Given the description of an element on the screen output the (x, y) to click on. 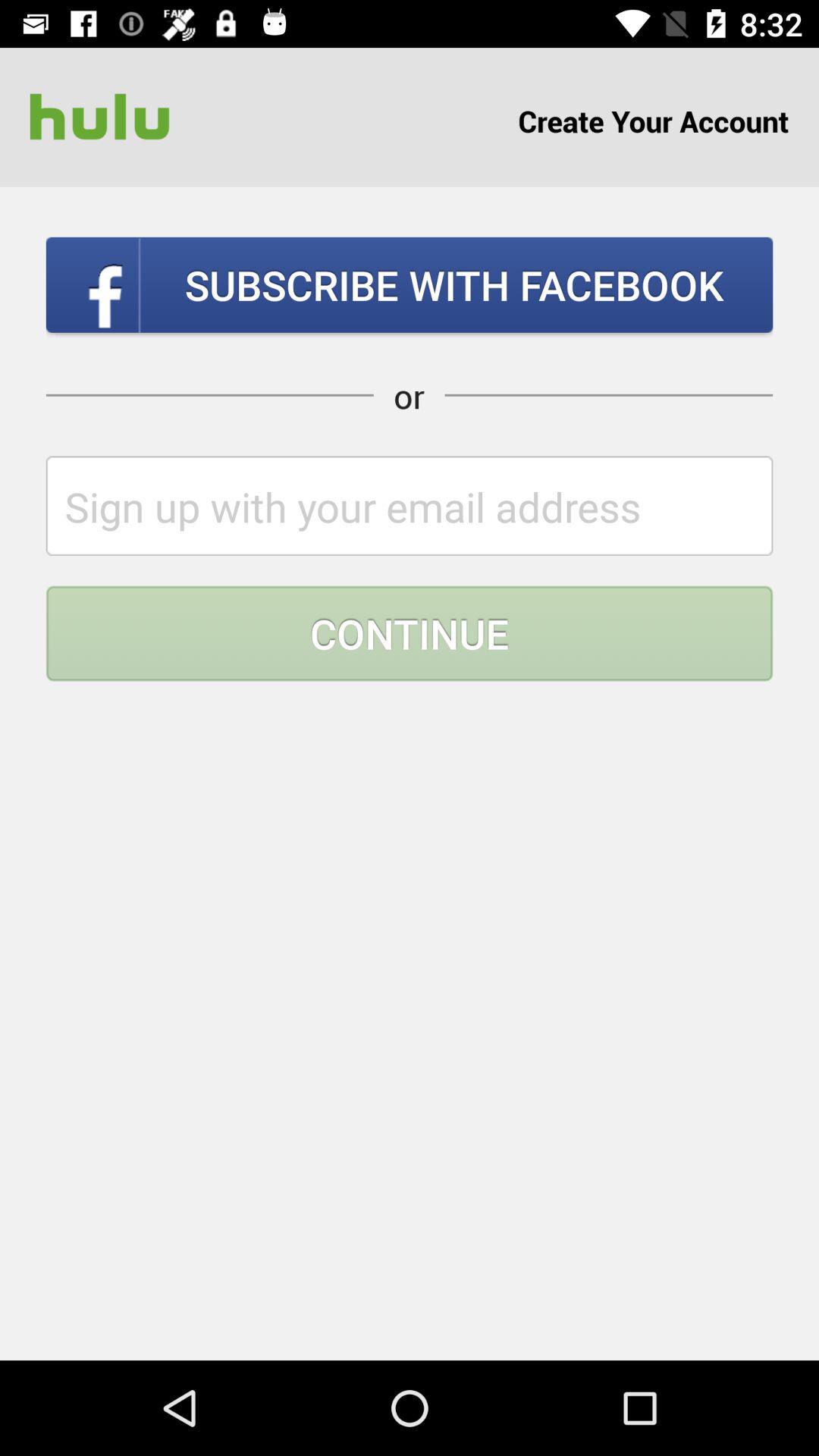
open item above or item (409, 284)
